Given the description of an element on the screen output the (x, y) to click on. 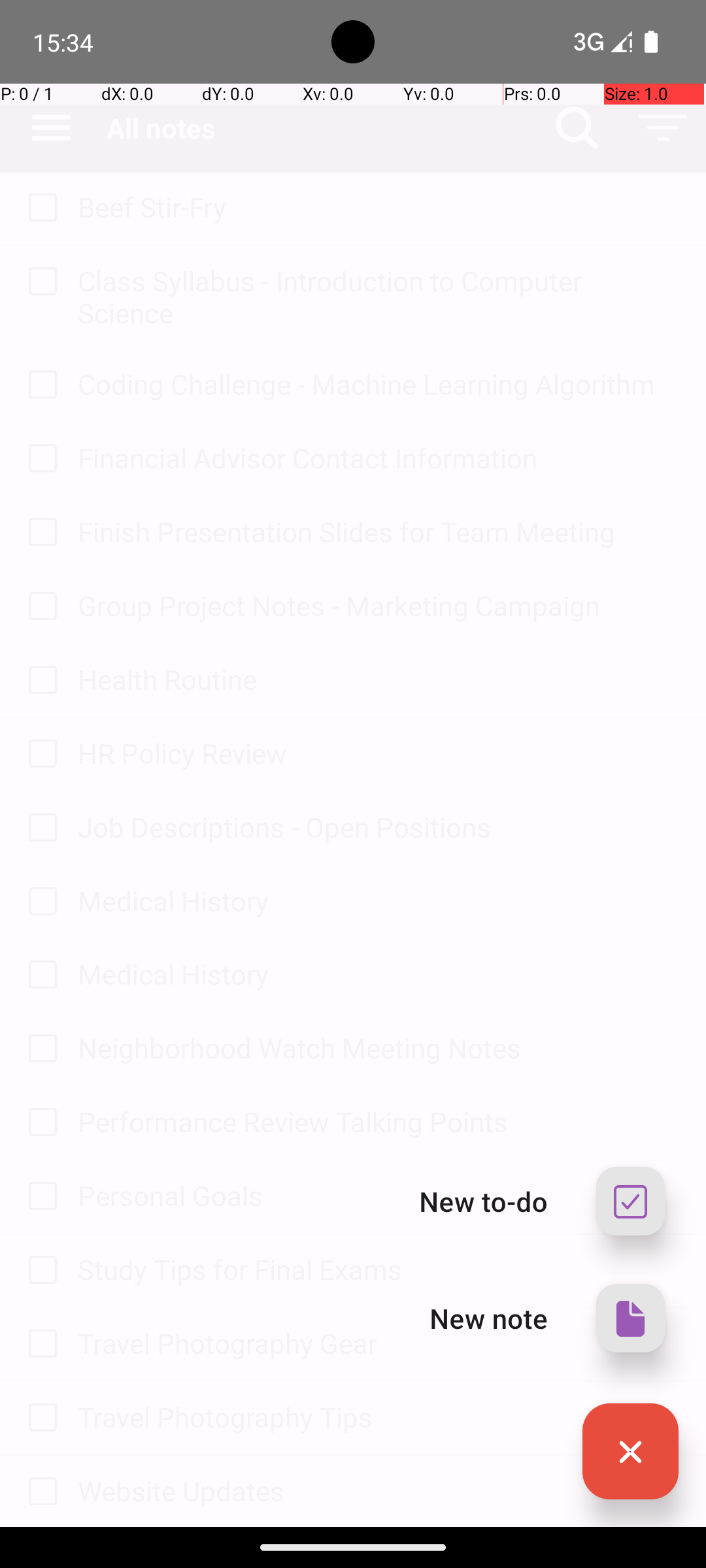
New to-do Element type: android.widget.Button (483, 1201)
New note Element type: android.widget.Button (488, 1317)
Add new, expanded Element type: android.widget.Button (630, 1451)
 Element type: android.widget.TextView (630, 1200)
 Element type: android.widget.TextView (630, 1317)
 Element type: android.widget.TextView (630, 1450)
to-do: Beef Stir-Fry Element type: android.widget.CheckBox (38, 208)
Beef Stir-Fry Element type: android.widget.TextView (378, 206)
to-do: Class Syllabus - Introduction to Computer Science Element type: android.widget.CheckBox (38, 282)
Class Syllabus - Introduction to Computer Science Element type: android.widget.TextView (378, 296)
to-do: Coding Challenge - Machine Learning Algorithm Element type: android.widget.CheckBox (38, 385)
Coding Challenge - Machine Learning Algorithm Element type: android.widget.TextView (378, 383)
to-do: Finish Presentation Slides for Team Meeting Element type: android.widget.CheckBox (38, 533)
Finish Presentation Slides for Team Meeting Element type: android.widget.TextView (378, 531)
to-do: Group Project Notes - Marketing Campaign Element type: android.widget.CheckBox (38, 606)
Group Project Notes - Marketing Campaign Element type: android.widget.TextView (378, 604)
to-do: Health Routine Element type: android.widget.CheckBox (38, 680)
Health Routine Element type: android.widget.TextView (378, 678)
to-do: HR Policy Review Element type: android.widget.CheckBox (38, 754)
HR Policy Review Element type: android.widget.TextView (378, 752)
to-do: Job Descriptions - Open Positions Element type: android.widget.CheckBox (38, 828)
Job Descriptions - Open Positions Element type: android.widget.TextView (378, 826)
to-do: Medical History Element type: android.widget.CheckBox (38, 902)
Medical History Element type: android.widget.TextView (378, 900)
to-do: Neighborhood Watch Meeting Notes Element type: android.widget.CheckBox (38, 1049)
Neighborhood Watch Meeting Notes Element type: android.widget.TextView (378, 1047)
to-do: Performance Review Talking Points Element type: android.widget.CheckBox (38, 1123)
Performance Review Talking Points Element type: android.widget.TextView (378, 1121)
to-do: Personal Goals Element type: android.widget.CheckBox (38, 1196)
Personal Goals Element type: android.widget.TextView (378, 1194)
to-do: Study Tips for Final Exams Element type: android.widget.CheckBox (38, 1270)
Study Tips for Final Exams Element type: android.widget.TextView (378, 1268)
to-do: Travel Photography Gear Element type: android.widget.CheckBox (38, 1344)
Travel Photography Gear Element type: android.widget.TextView (378, 1342)
to-do: Travel Photography Tips Element type: android.widget.CheckBox (38, 1418)
Travel Photography Tips Element type: android.widget.TextView (378, 1416)
to-do: Website Updates Element type: android.widget.CheckBox (38, 1491)
Website Updates Element type: android.widget.TextView (378, 1490)
